Given the description of an element on the screen output the (x, y) to click on. 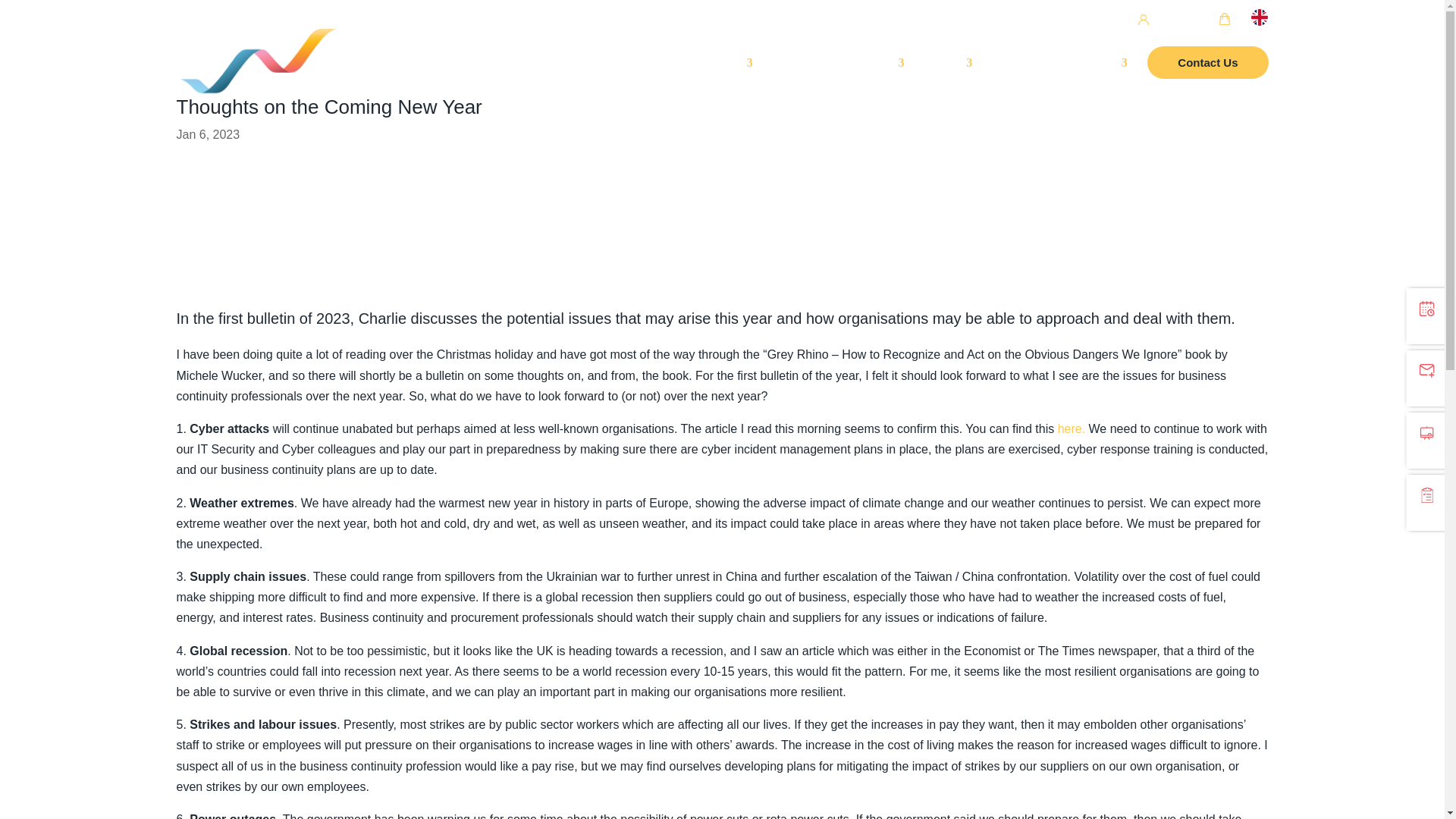
Products (797, 80)
Bulletin (1012, 80)
Contact Us (1207, 80)
Resources (1090, 80)
Courses (722, 80)
About (948, 80)
here. (1071, 428)
My Account (1115, 21)
Services (873, 80)
View Cart (1202, 20)
